Given the description of an element on the screen output the (x, y) to click on. 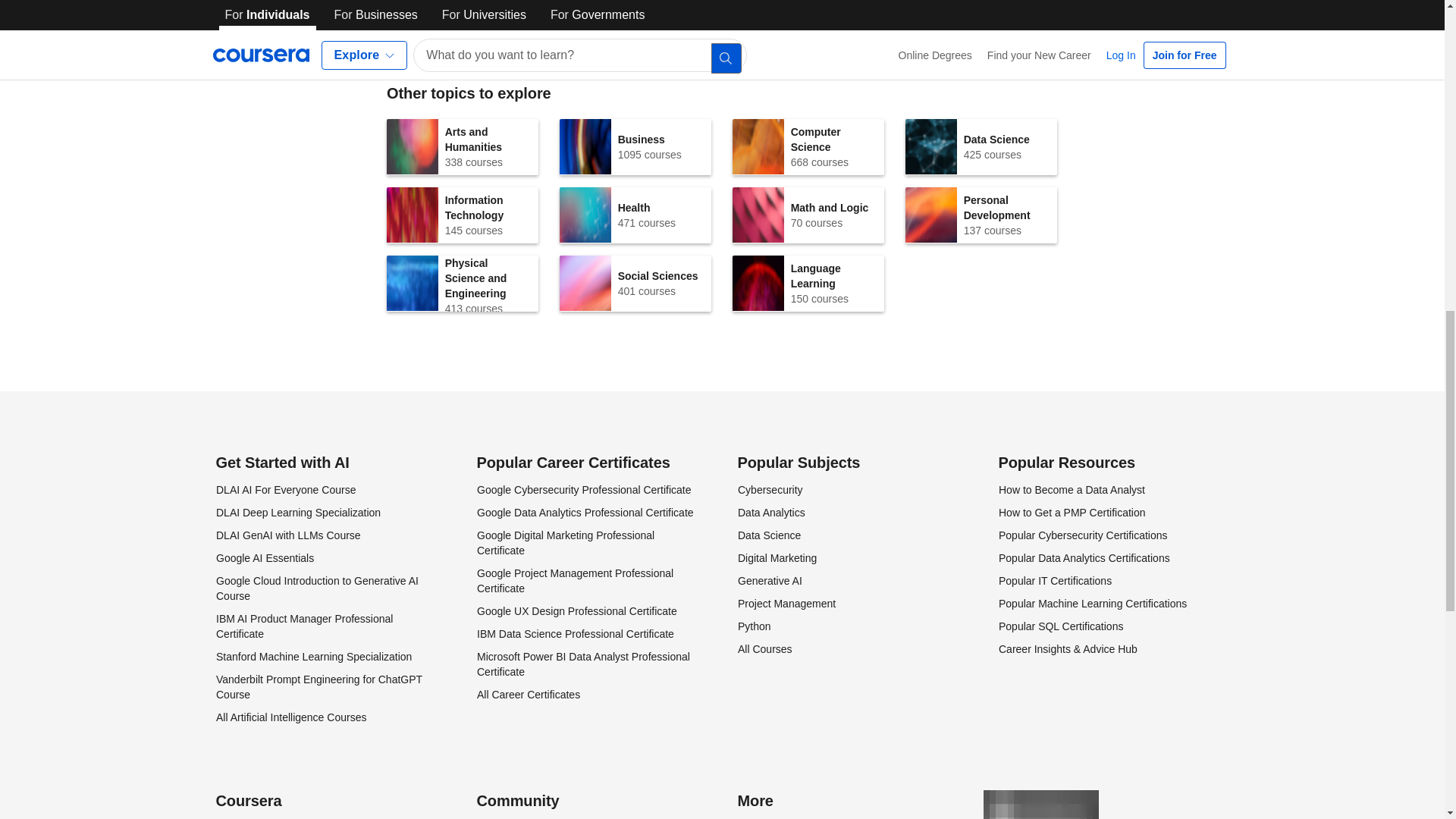
DLAI Deep Learning Specialization (807, 146)
DLAI AI For Everyone Course (297, 512)
Stanford Machine Learning Specialization (285, 490)
IBM AI Product Manager Professional Certificate (635, 146)
Computer Architecture (981, 146)
Google Cloud Introduction to Generative AI Course (312, 656)
Google Cybersecurity Professional Certificate (303, 625)
All Artificial Intelligence Courses (449, 12)
